Given the description of an element on the screen output the (x, y) to click on. 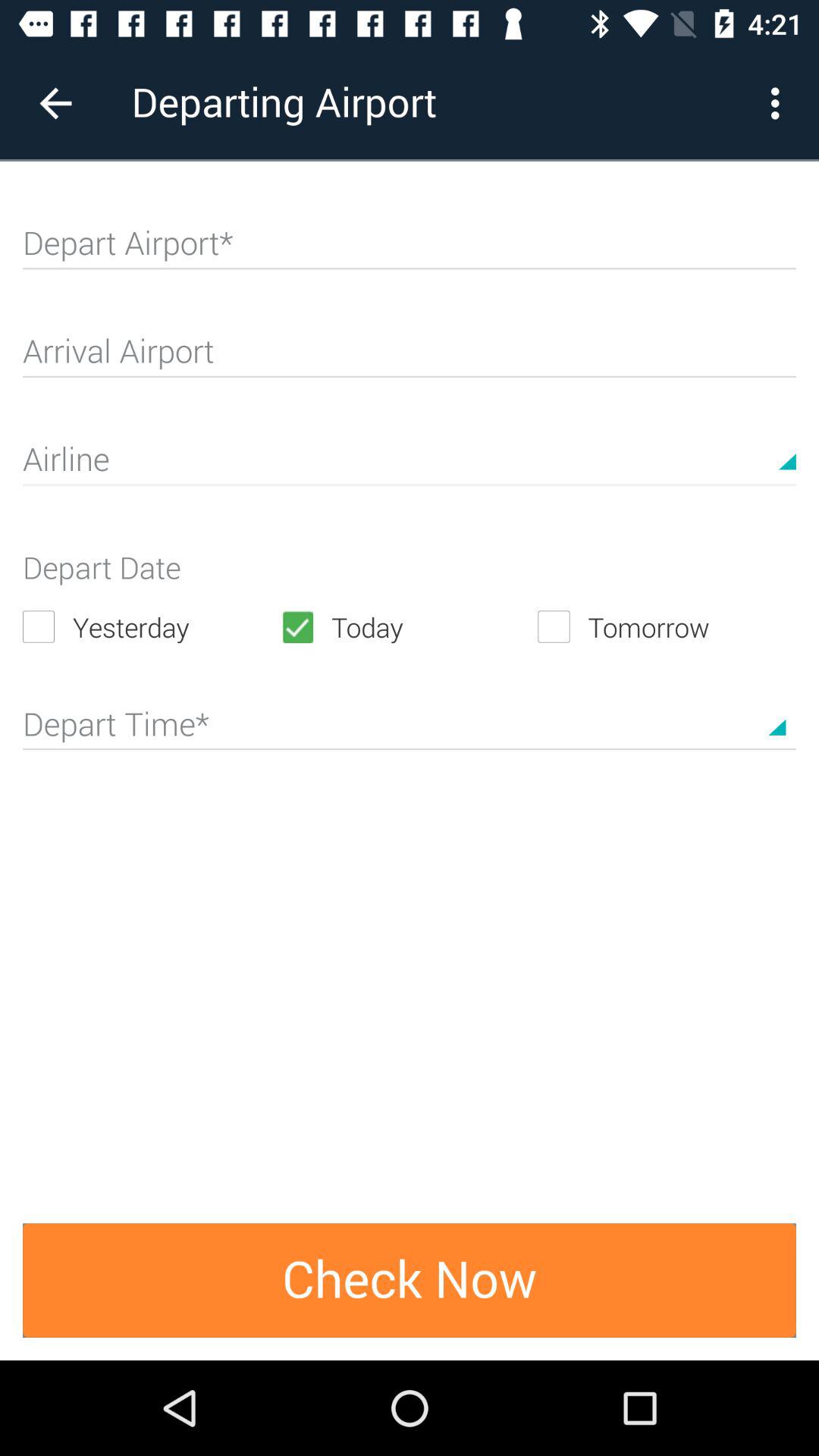
launch icon to the right of departing airport icon (779, 103)
